Given the description of an element on the screen output the (x, y) to click on. 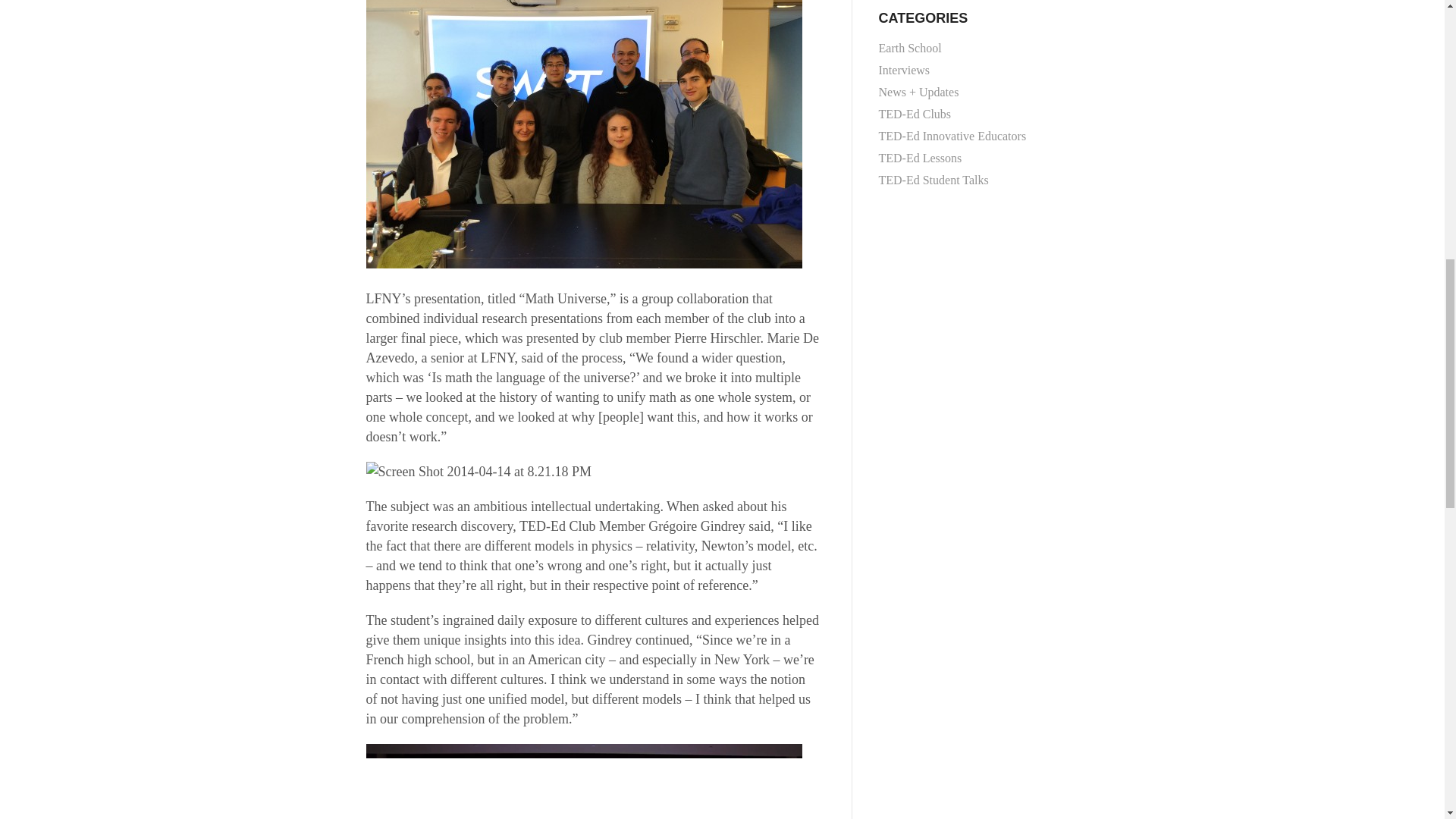
Earth School (977, 47)
TED-Ed Clubs (977, 113)
View all posts filed under TED-Ed Lessons (977, 157)
View all posts filed under TED-Ed Innovative Educators (977, 135)
View all posts filed under Interviews (977, 69)
TED-Ed Lessons (977, 157)
Interviews (977, 69)
View all posts filed under TED-Ed Clubs (977, 113)
View all posts filed under Earth School (977, 47)
TED-Ed Student Talks (977, 179)
TED-Ed Innovative Educators (977, 135)
View all posts filed under TED-Ed Student Talks (977, 179)
